Given the description of an element on the screen output the (x, y) to click on. 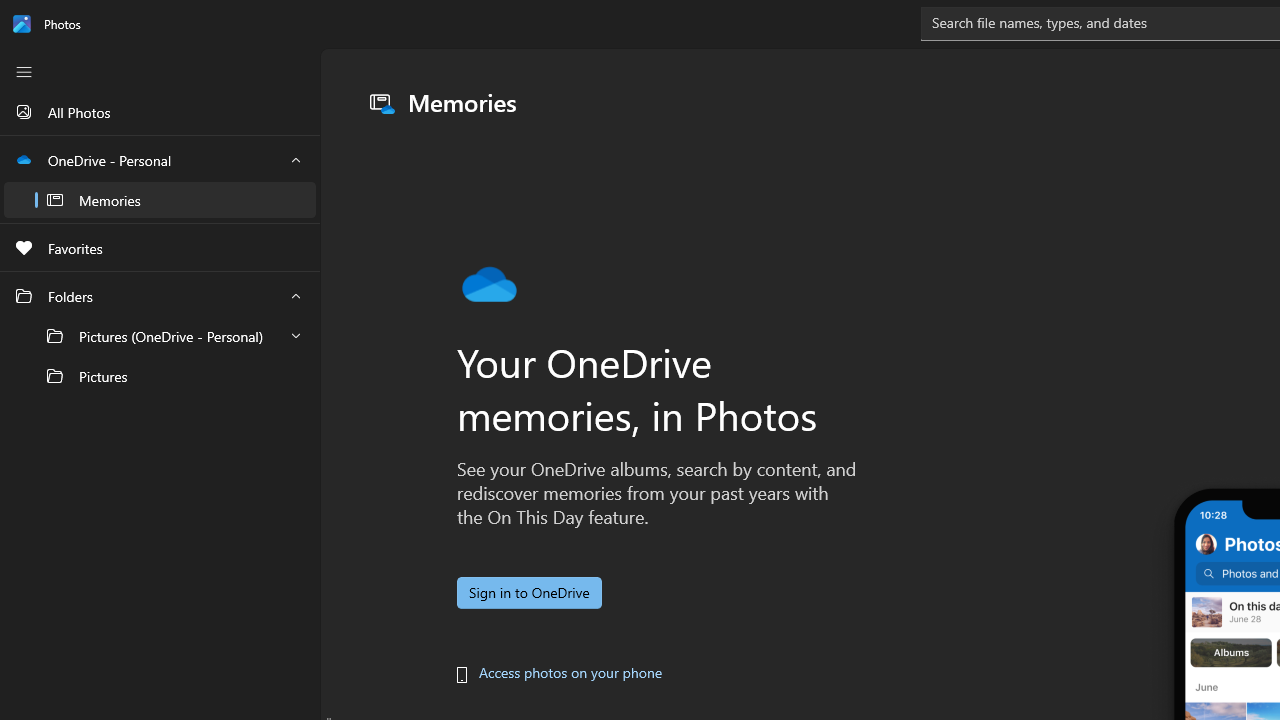
Folders (159, 335)
Favorites (159, 247)
Pictures (159, 375)
Memories (159, 200)
Close Navigation (23, 72)
Sign in to OneDrive (528, 592)
All Photos (159, 112)
OneDrive - Personal (159, 179)
Pictures (OneDrive - Personal) (159, 336)
Access photos on your phone (570, 672)
